Given the description of an element on the screen output the (x, y) to click on. 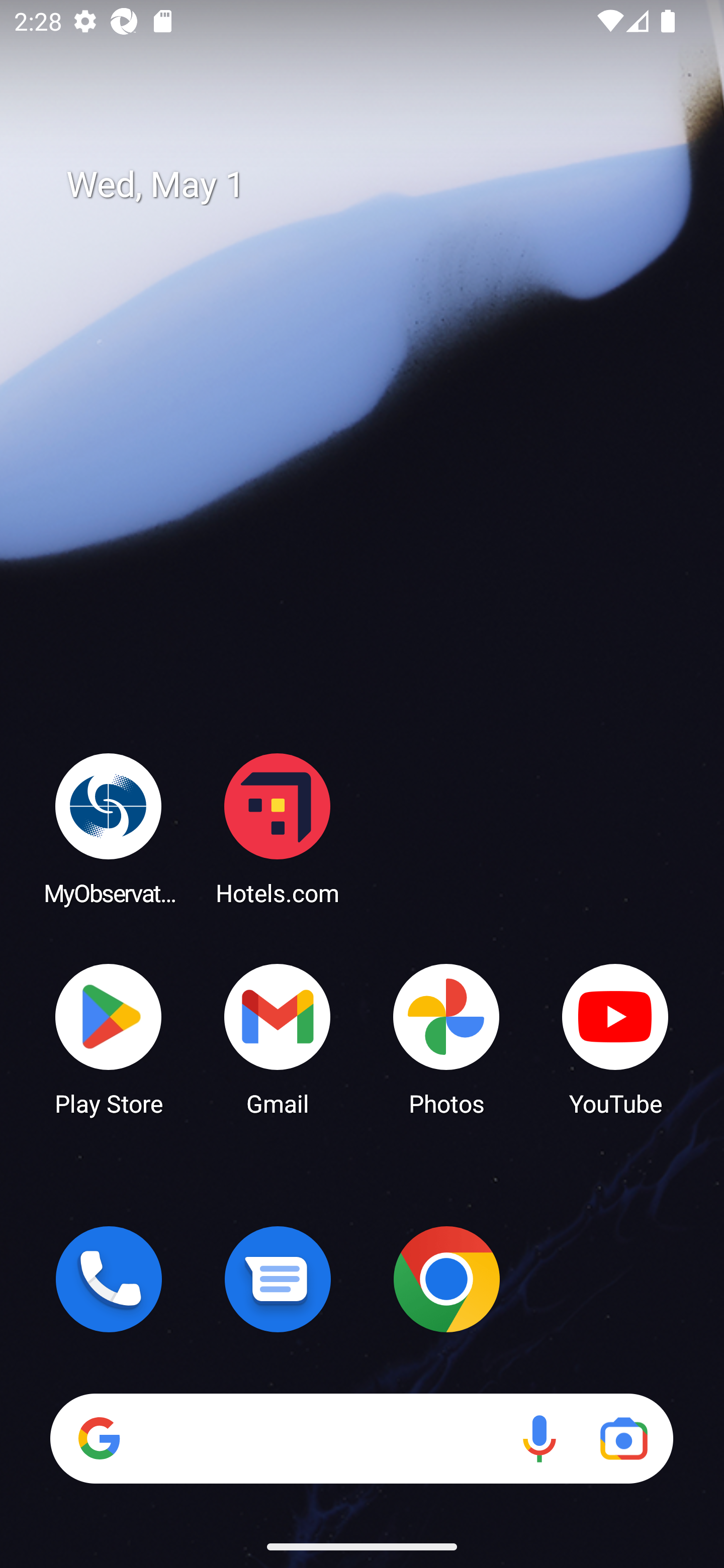
Wed, May 1 (375, 184)
MyObservatory (108, 828)
Hotels.com (277, 828)
Play Store (108, 1038)
Gmail (277, 1038)
Photos (445, 1038)
YouTube (615, 1038)
Phone (108, 1279)
Messages (277, 1279)
Chrome (446, 1279)
Search Voice search Google Lens (361, 1438)
Voice search (539, 1438)
Google Lens (623, 1438)
